Given the description of an element on the screen output the (x, y) to click on. 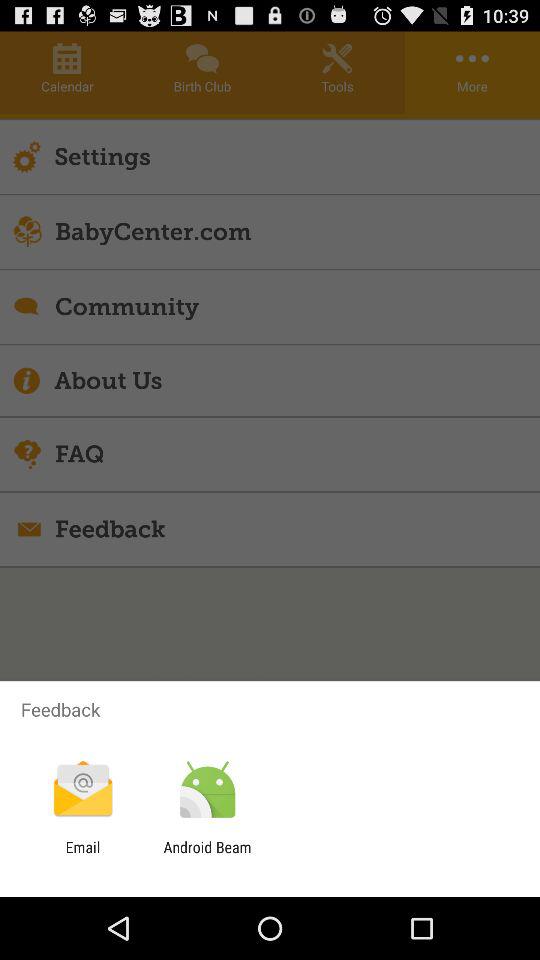
open icon next to the android beam item (82, 856)
